Given the description of an element on the screen output the (x, y) to click on. 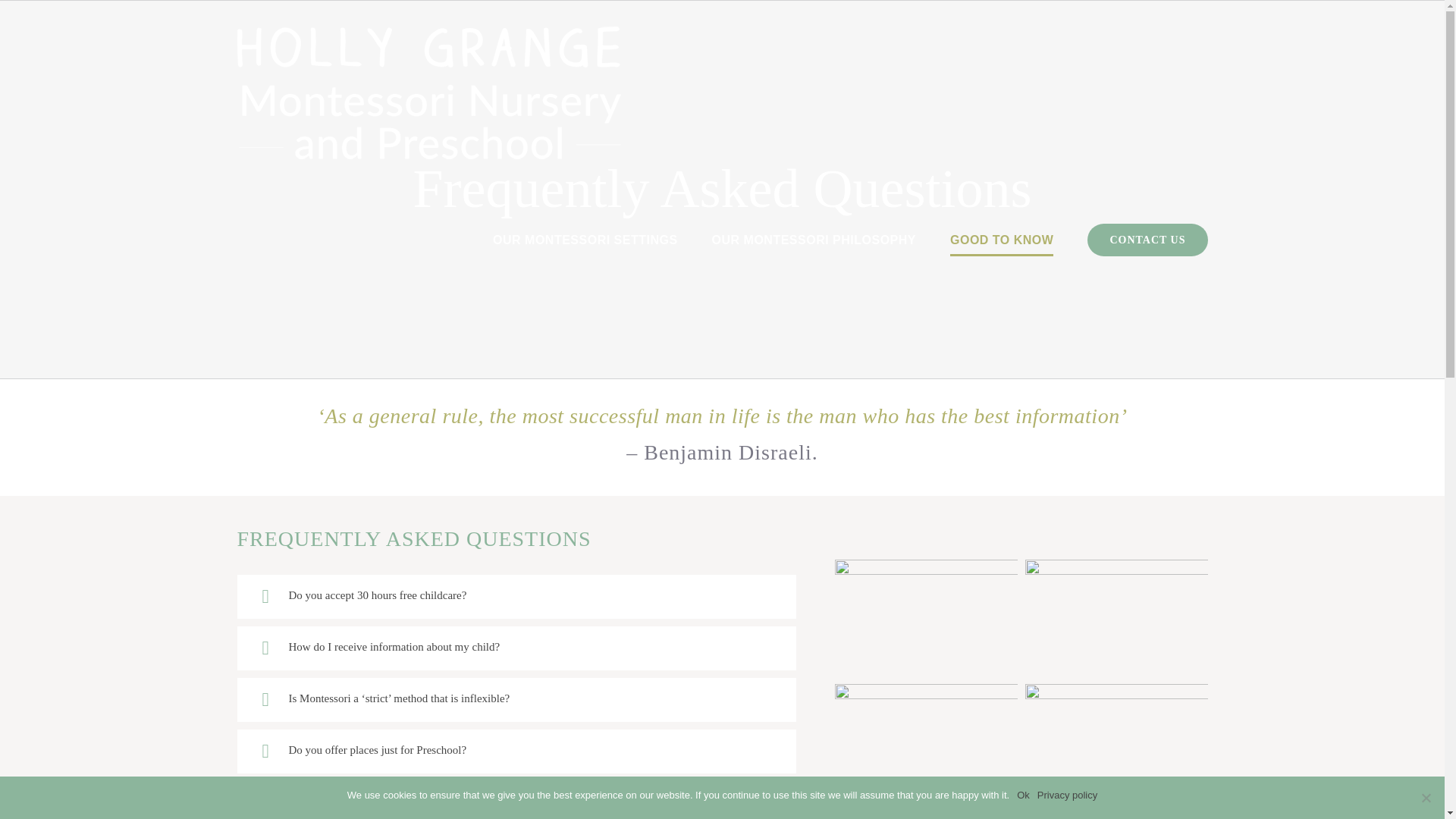
Do you support children's additional needs? (514, 800)
CONTACT US (1147, 239)
OUR MONTESSORI SETTINGS (585, 239)
How do I receive information about my child? (514, 648)
Do you offer places just for Preschool? (514, 751)
hgm07 (925, 741)
hgm06 (1116, 617)
No (1425, 797)
hgm02 (1116, 741)
OUR MONTESSORI PHILOSOPHY (813, 239)
hgm01 (925, 617)
hgm08 (925, 813)
GOOD TO KNOW (1001, 239)
Do you accept 30 hours free childcare? (514, 596)
hgm09 (1116, 813)
